Given the description of an element on the screen output the (x, y) to click on. 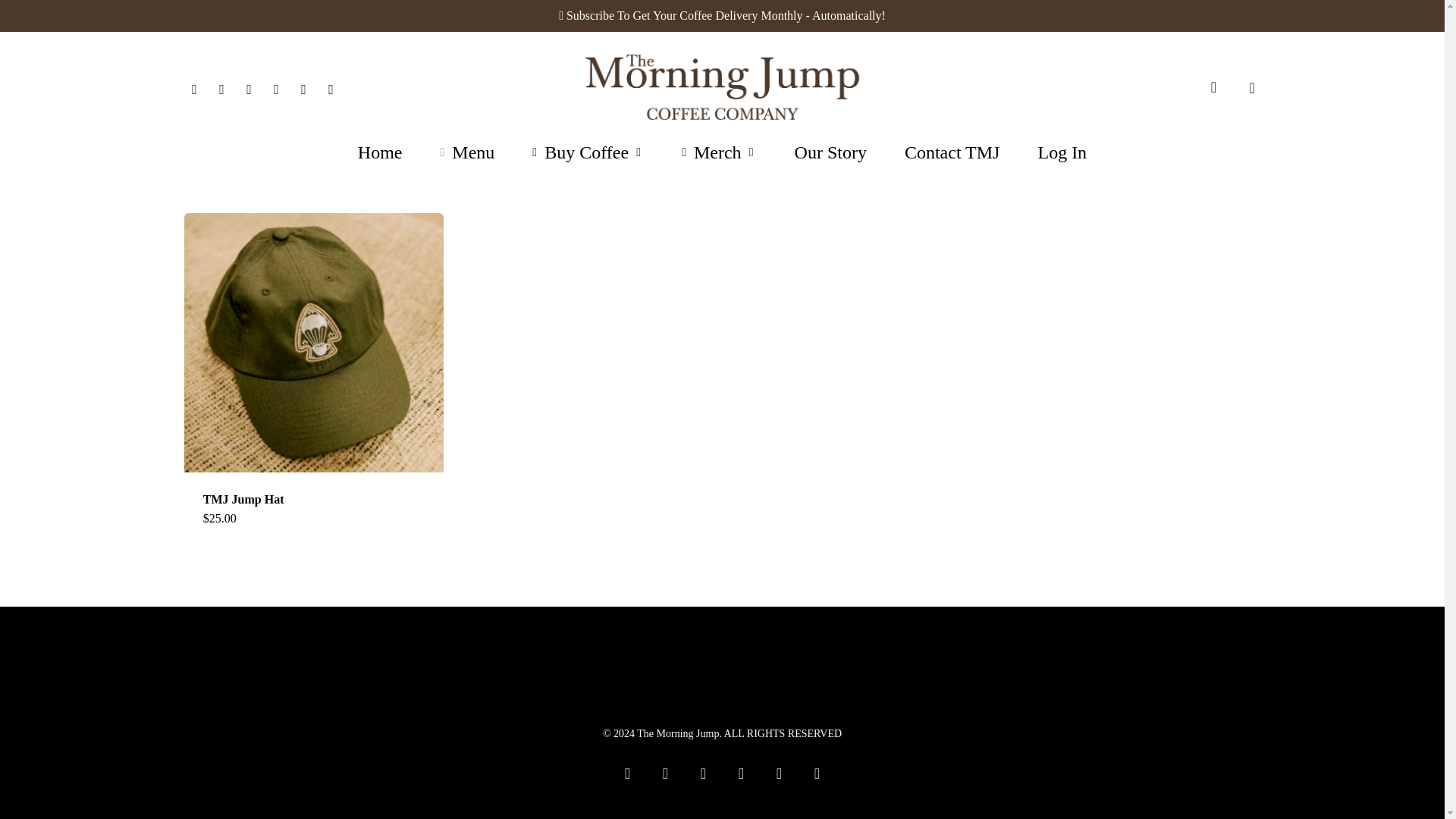
Twitter (194, 86)
X-Twitter (221, 86)
Buy Coffee (587, 152)
Menu (467, 152)
Home (380, 152)
Phone (303, 86)
Instagram (275, 86)
account (1213, 87)
Facebook (248, 86)
Email (330, 86)
Merch (718, 152)
